Given the description of an element on the screen output the (x, y) to click on. 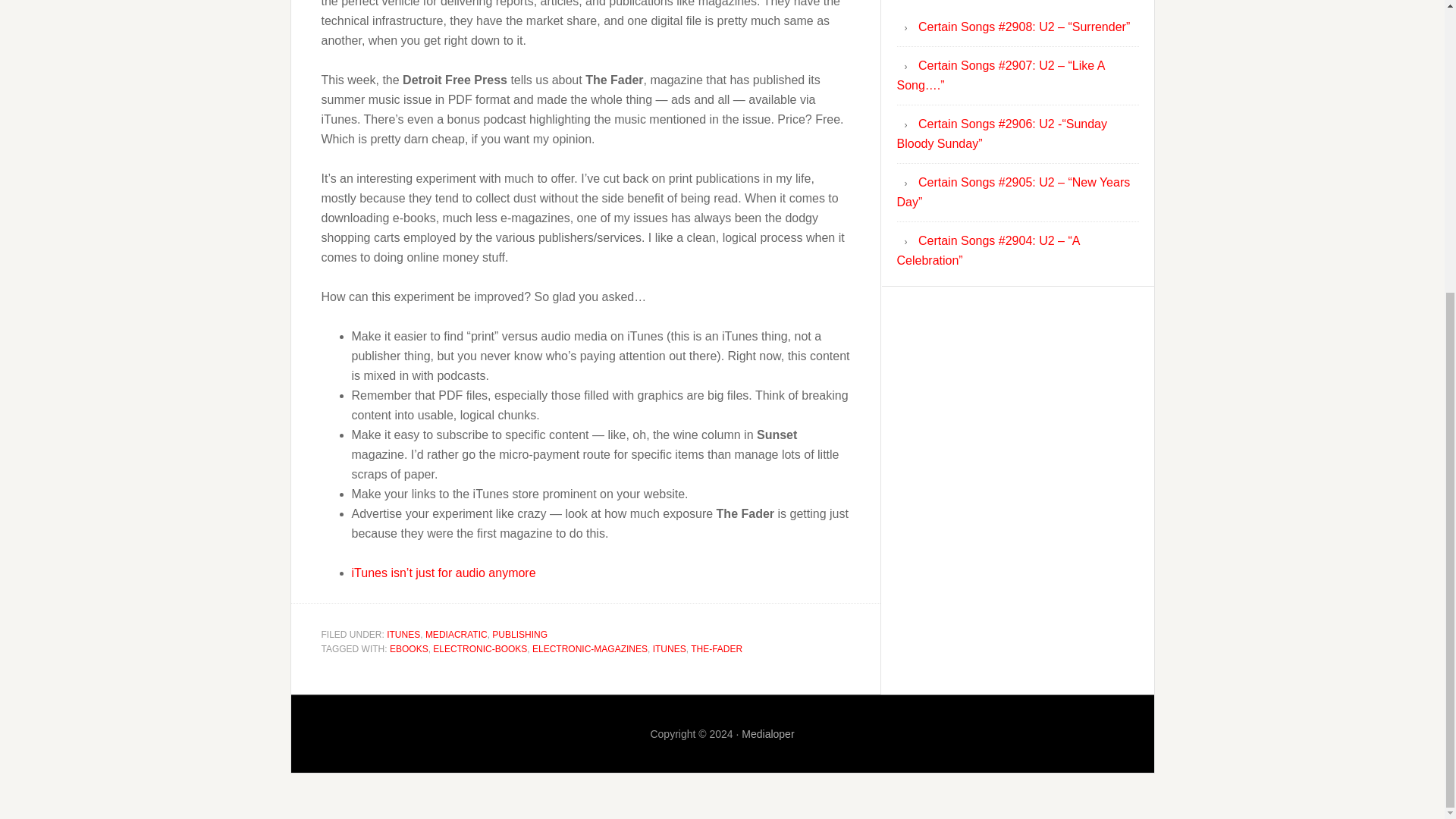
EBOOKS (409, 648)
THE-FADER (716, 648)
ITUNES (403, 634)
MEDIACRATIC (456, 634)
PUBLISHING (519, 634)
ELECTRONIC-MAGAZINES (589, 648)
Medialoper (767, 734)
ITUNES (668, 648)
ELECTRONIC-BOOKS (479, 648)
